Given the description of an element on the screen output the (x, y) to click on. 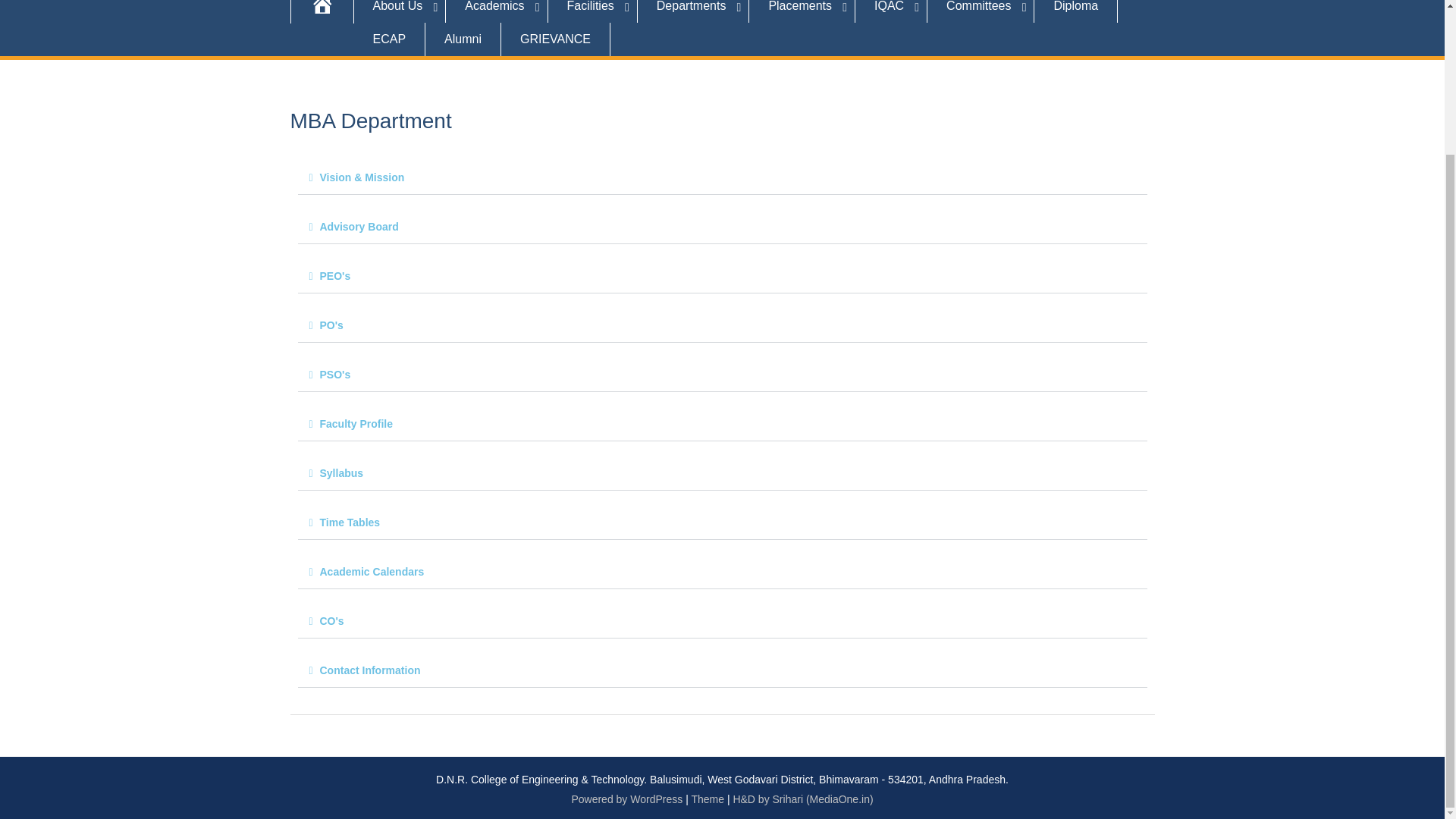
Departments (693, 11)
Home (321, 11)
Facilities (592, 11)
Academics (496, 11)
About Us (399, 11)
